Given the description of an element on the screen output the (x, y) to click on. 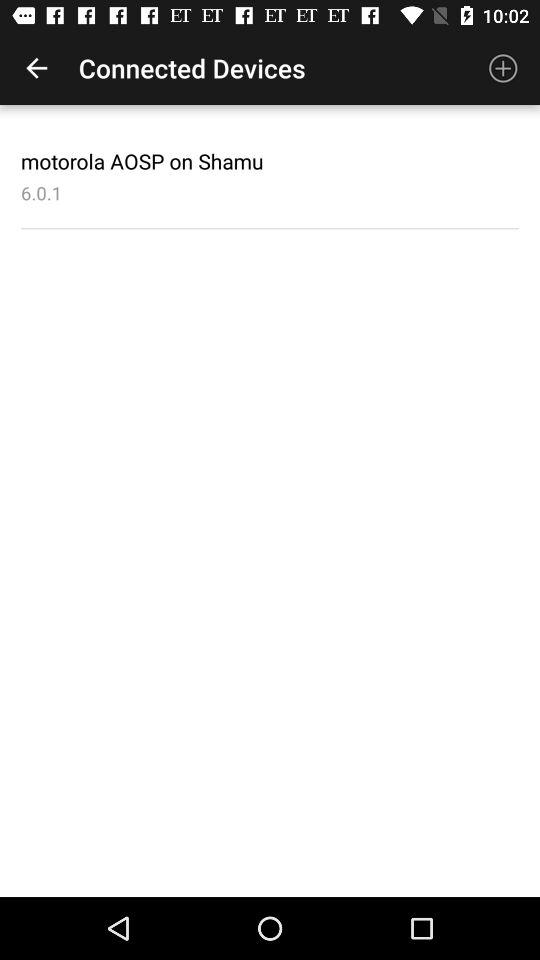
choose icon next to connected devices item (36, 68)
